Given the description of an element on the screen output the (x, y) to click on. 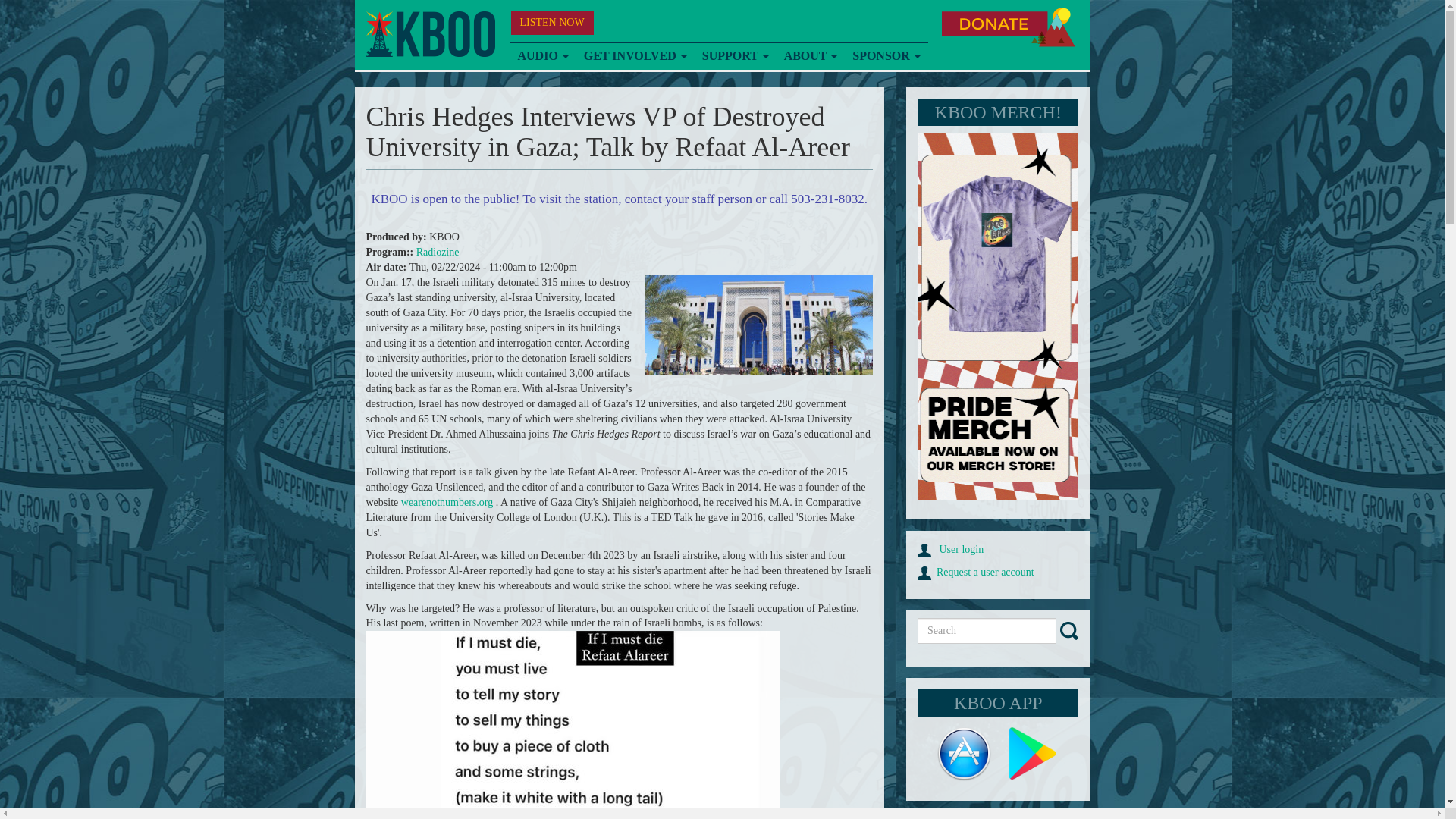
SPONSOR (886, 55)
ABOUT (810, 55)
Home (430, 34)
AUDIO (542, 55)
LISTEN NOW (551, 22)
SUPPORT (735, 55)
GET INVOLVED (635, 55)
